Given the description of an element on the screen output the (x, y) to click on. 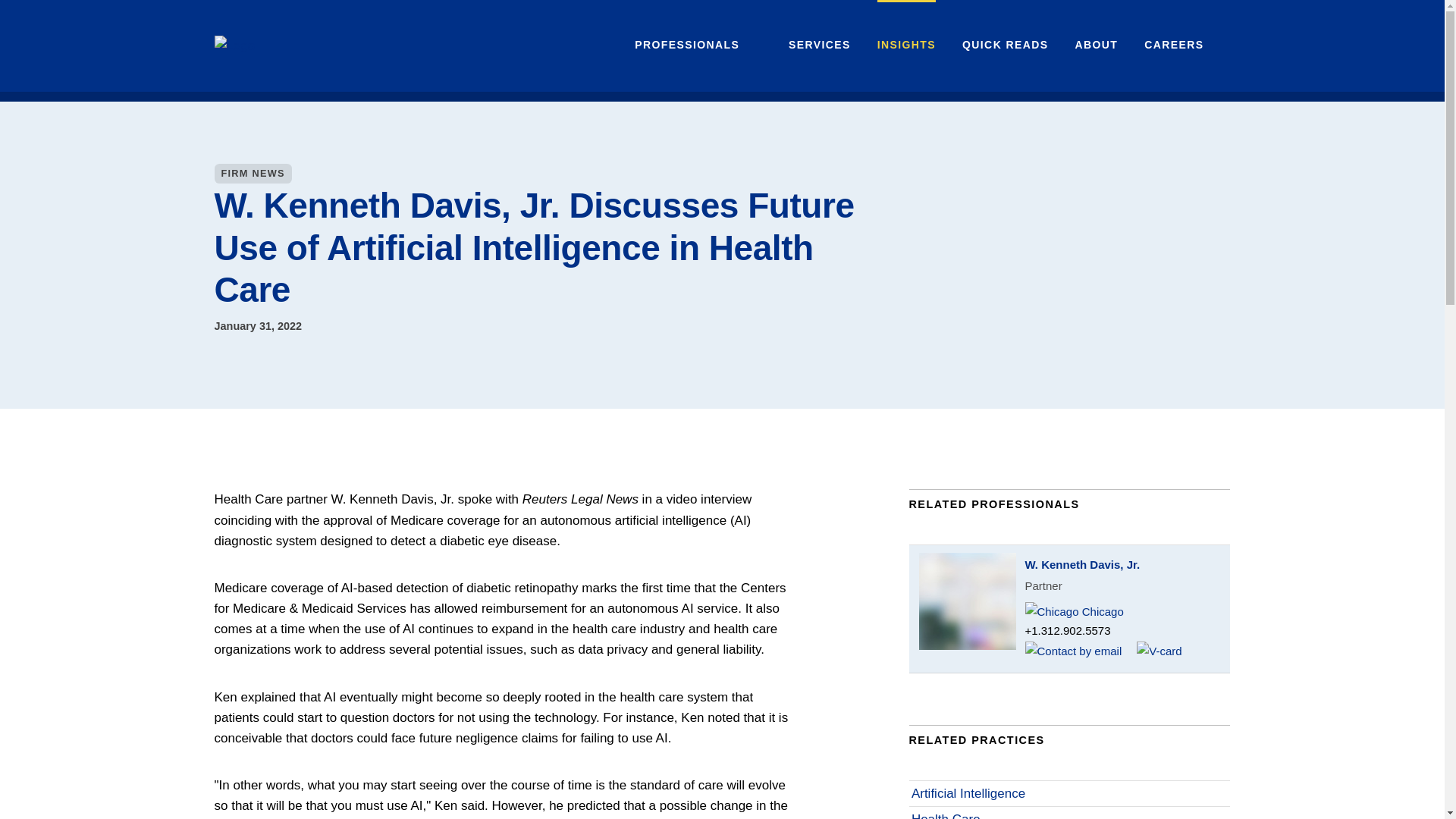
CAREERS (1174, 44)
INSIGHTS (906, 44)
PROFESSIONALS (686, 44)
ABOUT (1096, 44)
QUICK READS (1005, 44)
SERVICES (819, 44)
